Given the description of an element on the screen output the (x, y) to click on. 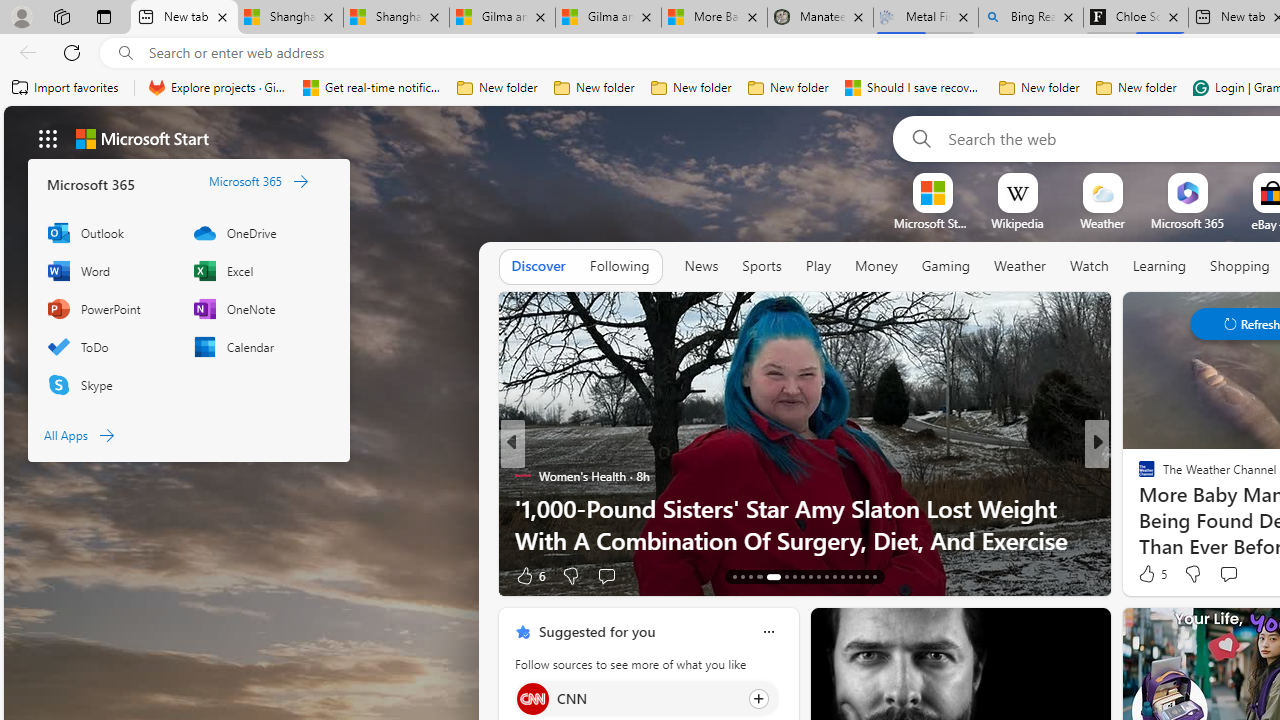
PowerPoint (110, 309)
Nordace.com (1165, 507)
AutomationID: tab-19 (793, 576)
AutomationID: tab-18 (786, 576)
Forge of Empires (1175, 507)
View comments 6 Comment (1234, 575)
AutomationID: tab-15 (750, 576)
App launcher (47, 138)
Click to follow source CNN (646, 698)
AutomationID: tab-22 (818, 576)
